Given the description of an element on the screen output the (x, y) to click on. 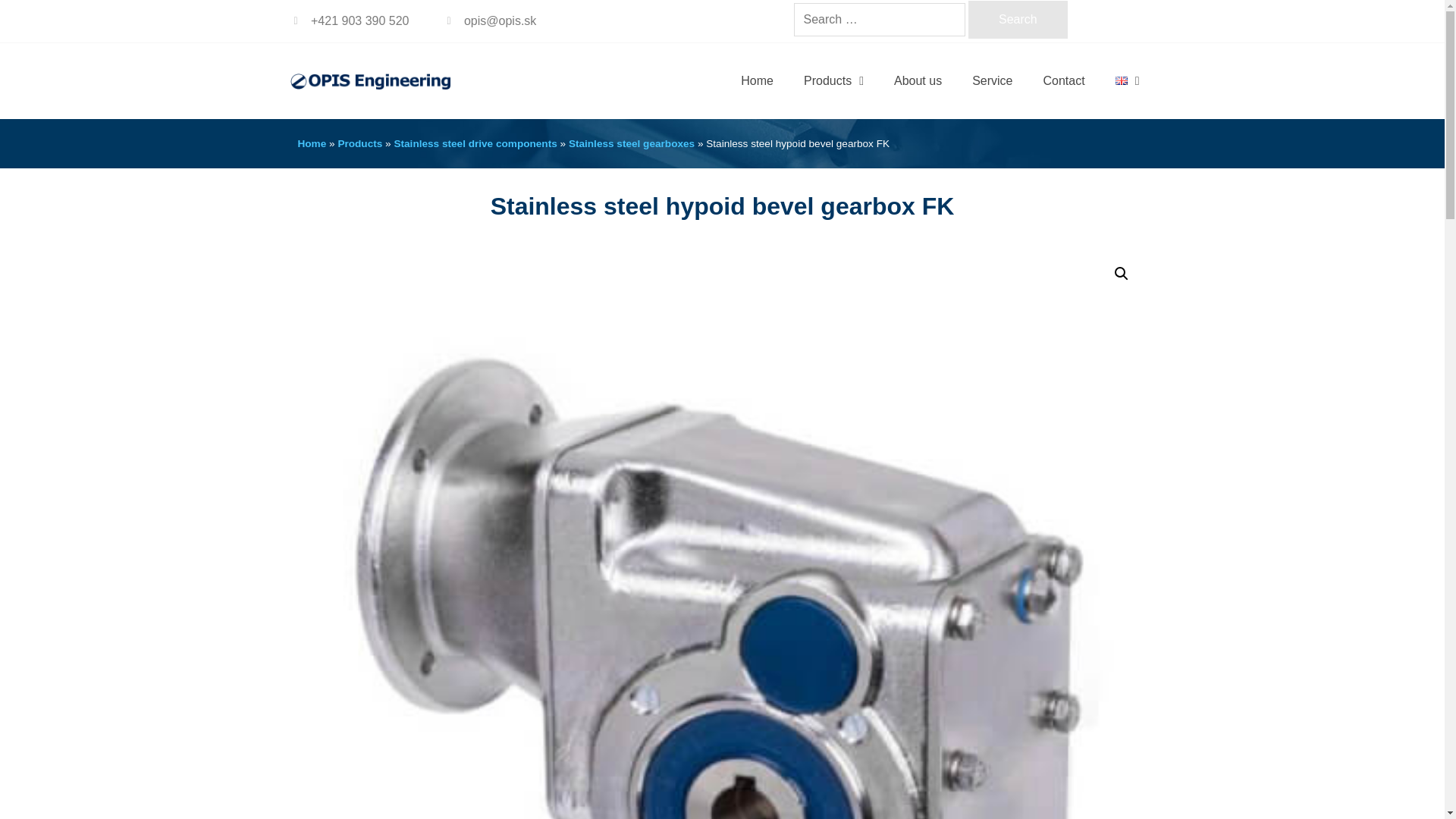
Search (1017, 19)
Home (311, 143)
Products (359, 143)
Products (834, 80)
Contact (1063, 80)
Service (991, 80)
Search (1017, 19)
Search (1017, 19)
About us (917, 80)
